Given the description of an element on the screen output the (x, y) to click on. 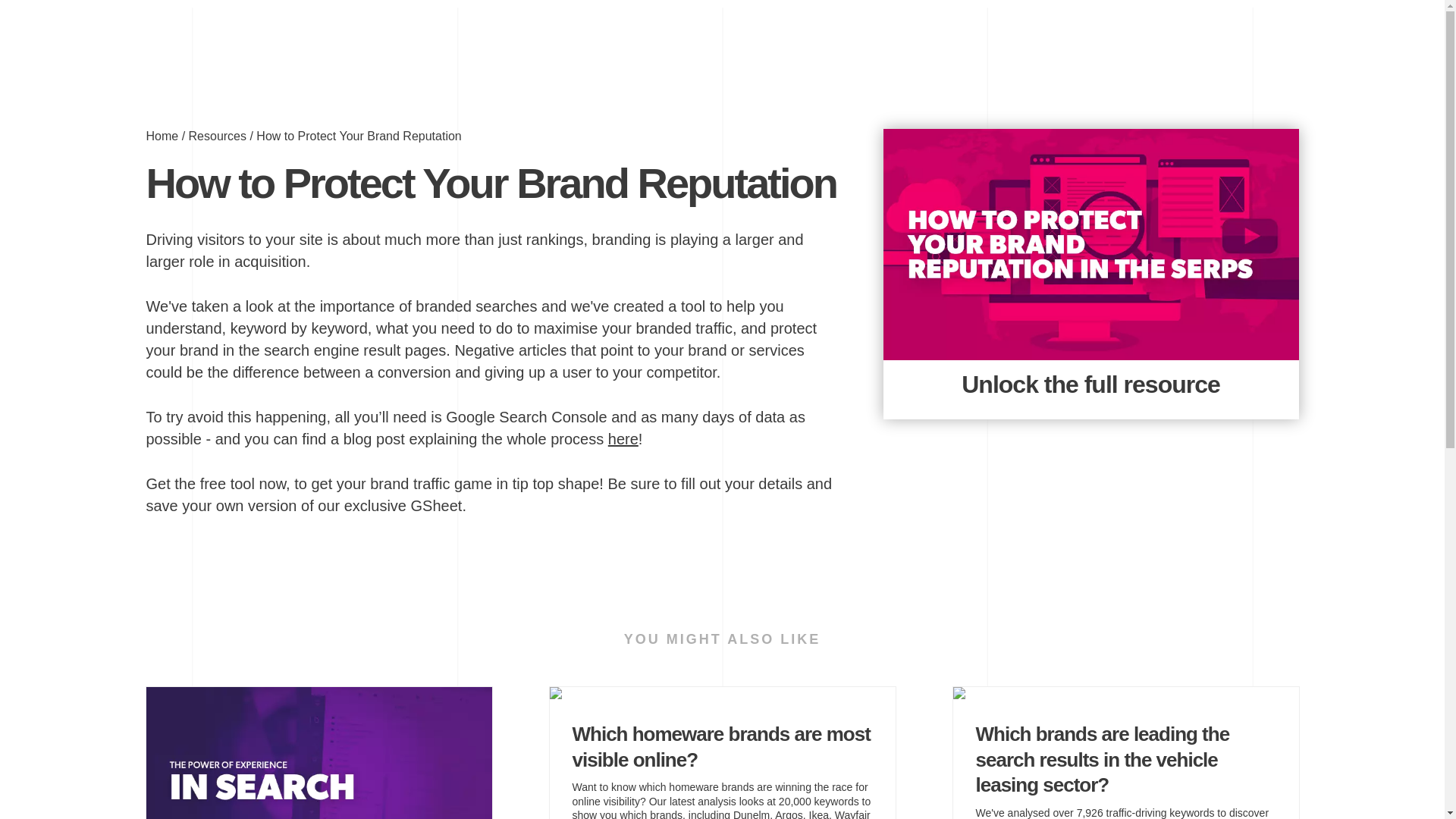
here (623, 438)
Resources (217, 135)
Home (161, 135)
Which homeware brands are most visible online? (722, 757)
